Given the description of an element on the screen output the (x, y) to click on. 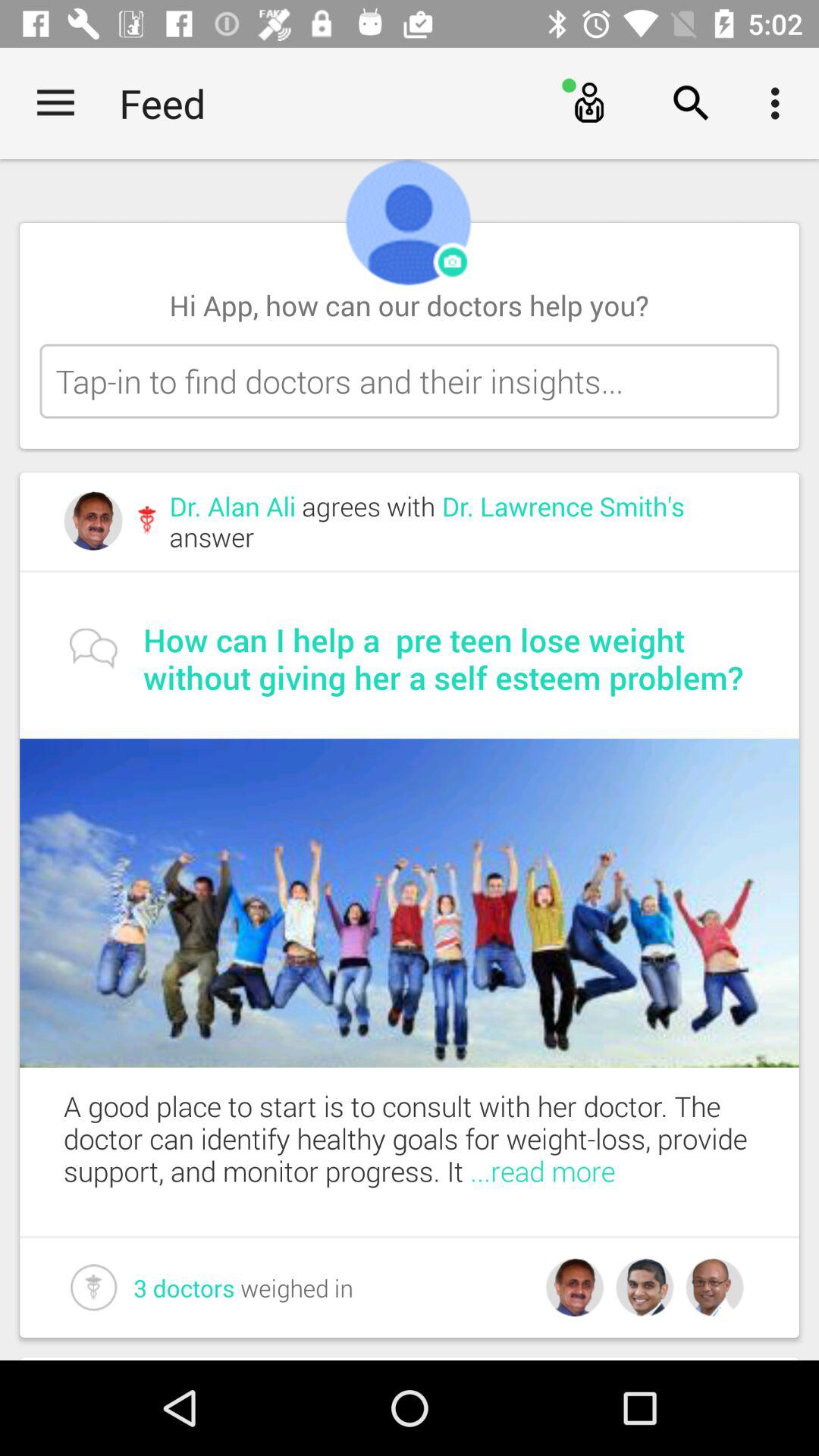
open dr alan ali (462, 521)
